Given the description of an element on the screen output the (x, y) to click on. 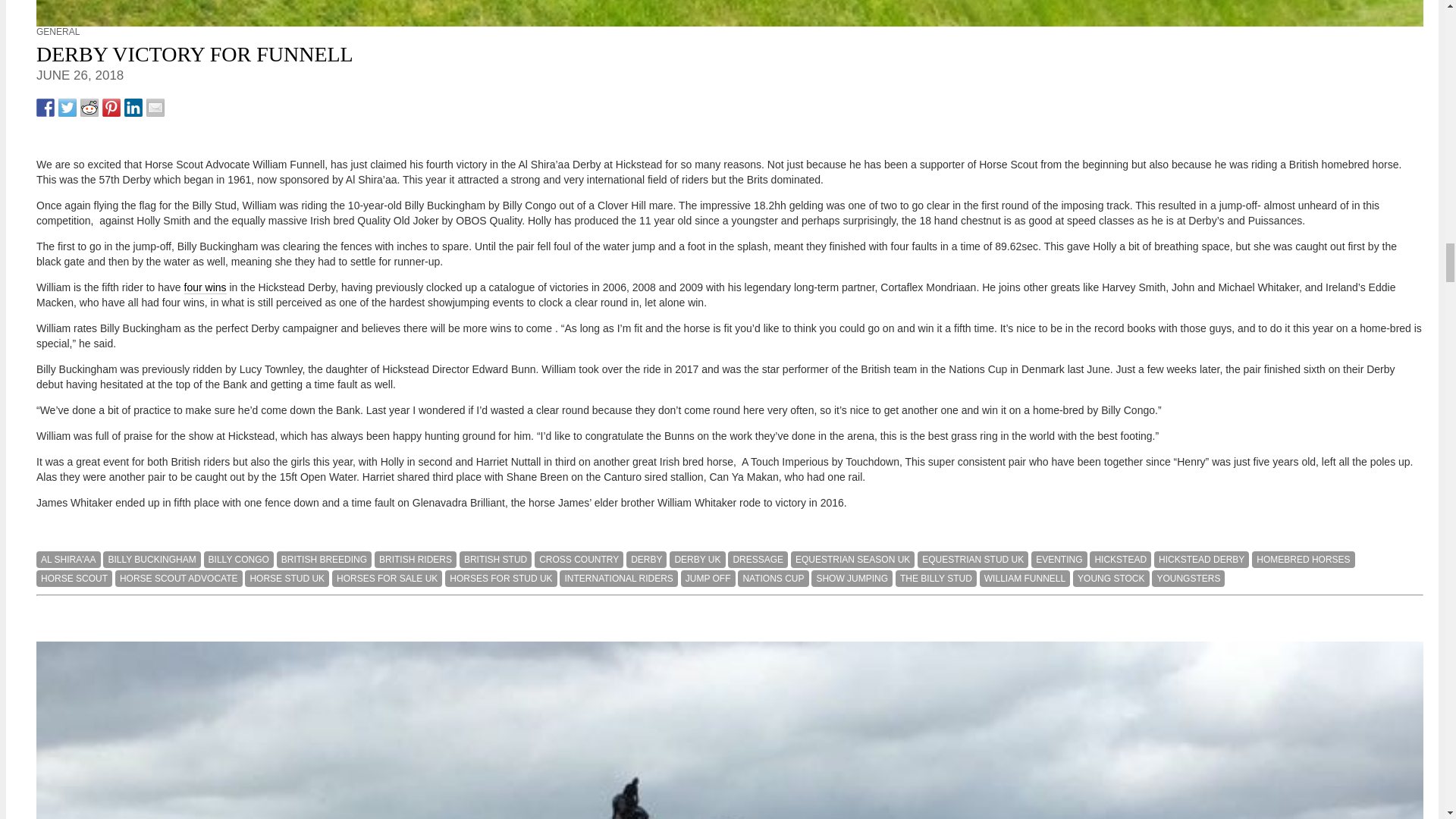
Share on Twitter (67, 107)
Share on Facebook (45, 107)
